Given the description of an element on the screen output the (x, y) to click on. 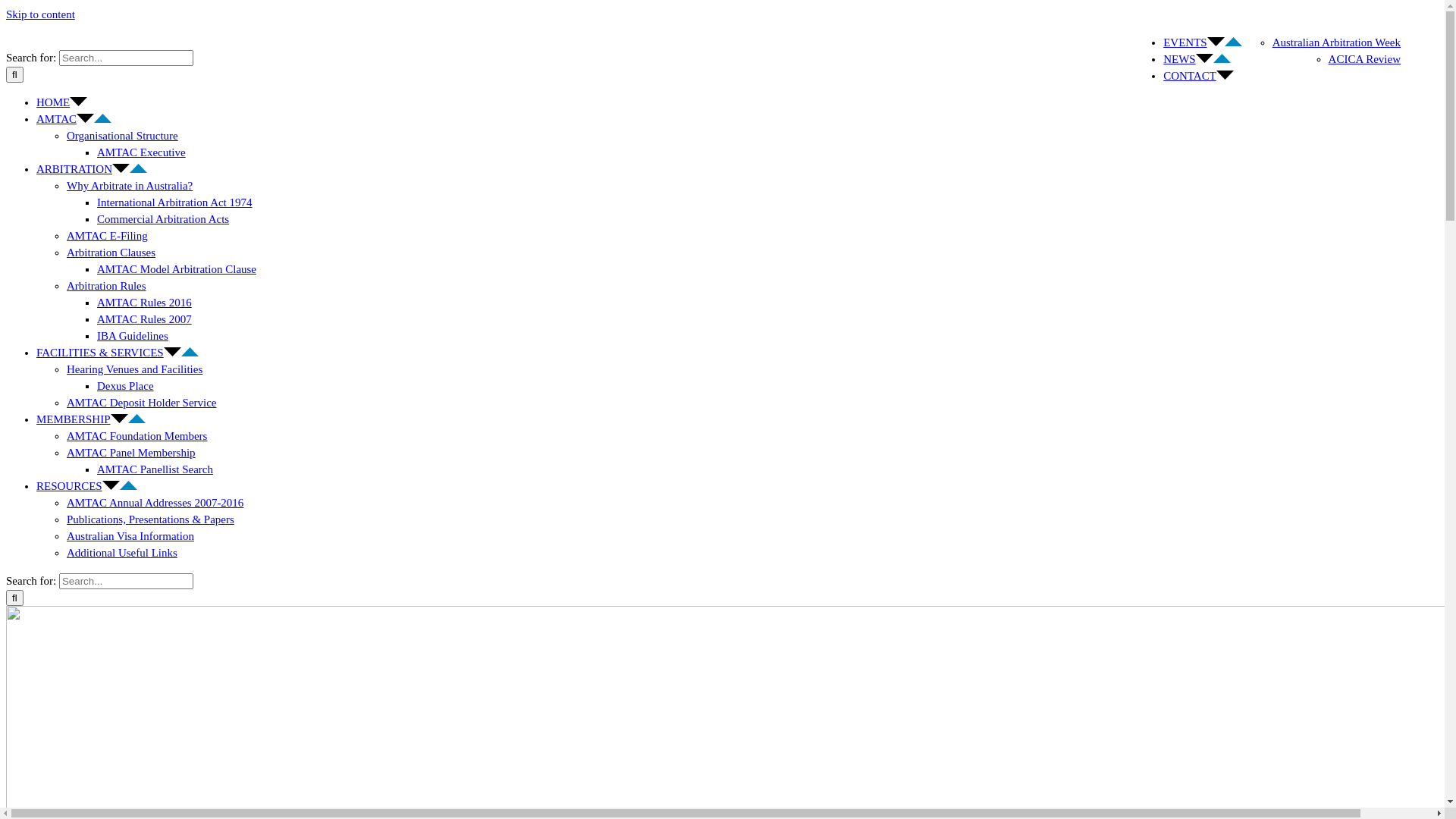
NEWS Element type: text (1196, 59)
ACICA Review Element type: text (1364, 59)
Dexus Place Element type: text (125, 385)
MEMBERSHIP Element type: text (90, 419)
AMTAC Rules 2016 Element type: text (144, 302)
ARBITRATION Element type: text (91, 169)
AMTAC Foundation Members Element type: text (136, 435)
Australian Arbitration Week Element type: text (1336, 42)
International Arbitration Act 1974 Element type: text (174, 202)
AMTAC Panel Membership Element type: text (130, 452)
Arbitration Rules Element type: text (106, 285)
AMTAC Element type: text (73, 118)
Additional Useful Links Element type: text (121, 552)
AMTAC Model Arbitration Clause Element type: text (176, 269)
AMTAC Executive Element type: text (141, 152)
Australian Visa Information Element type: text (130, 536)
FACILITIES & SERVICES Element type: text (117, 352)
CONTACT Element type: text (1198, 75)
AMTAC Annual Addresses 2007-2016 Element type: text (154, 502)
Publications, Presentations & Papers Element type: text (150, 519)
AMTAC E-Filing Element type: text (106, 235)
AMTAC Rules 2007 Element type: text (144, 319)
RESOURCES Element type: text (86, 486)
Hearing Venues and Facilities Element type: text (134, 369)
IBA Guidelines Element type: text (132, 335)
Commercial Arbitration Acts Element type: text (163, 219)
Arbitration Clauses Element type: text (110, 252)
Why Arbitrate in Australia? Element type: text (129, 185)
AMTAC Panellist Search Element type: text (155, 469)
Organisational Structure Element type: text (122, 135)
Skip to content Element type: text (40, 14)
EVENTS Element type: text (1202, 42)
AMTAC Deposit Holder Service Element type: text (141, 402)
HOME Element type: text (61, 102)
